Given the description of an element on the screen output the (x, y) to click on. 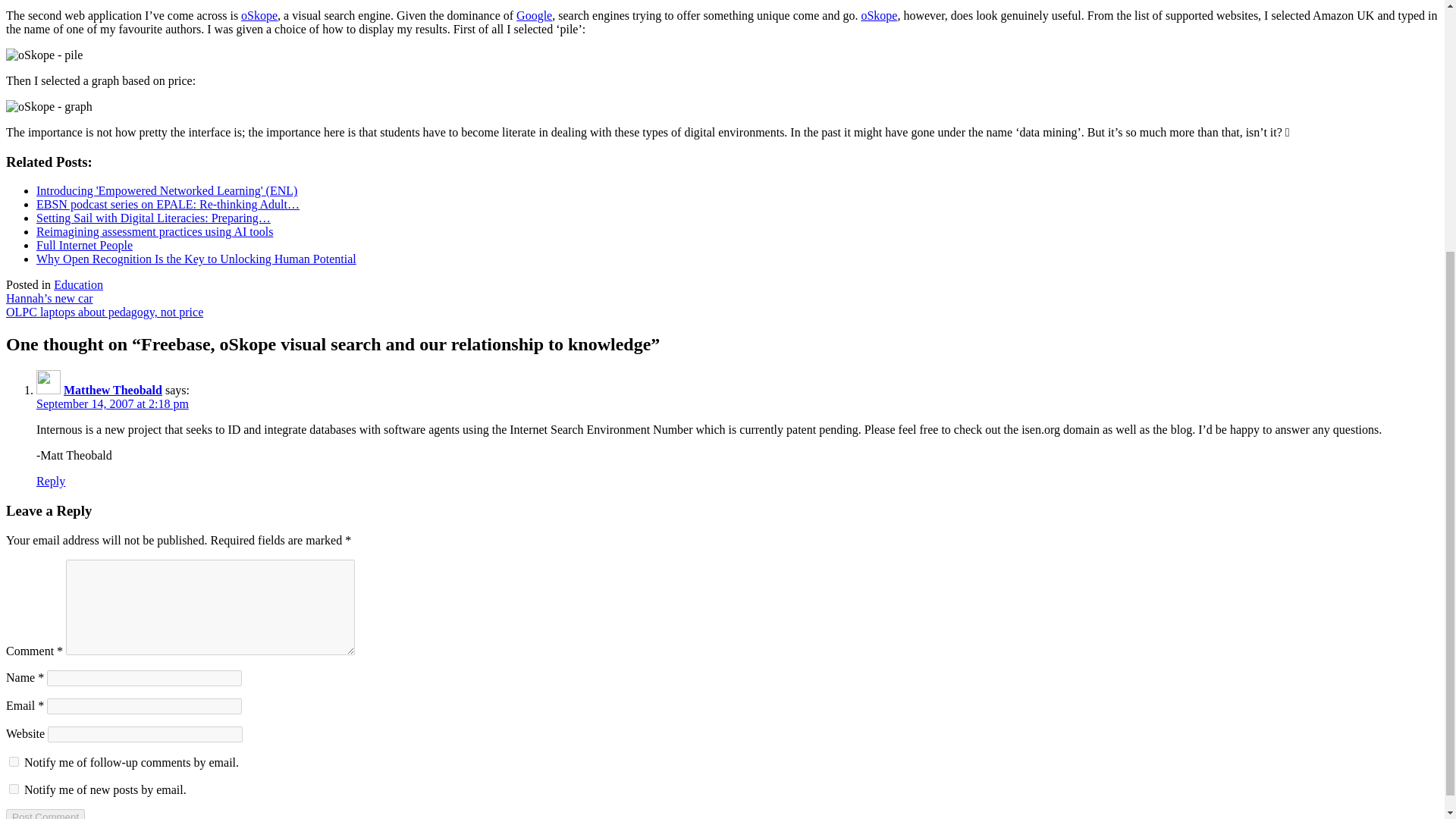
Reimagining assessment practices using AI tools (154, 231)
OLPC laptops about pedagogy, not price (104, 311)
oSkope (259, 15)
September 14, 2007 at 2:18 pm (112, 403)
subscribe (13, 787)
subscribe (13, 760)
Education (78, 284)
Matthew Theobald (112, 390)
oSkope (878, 15)
Why Open Recognition Is the Key to Unlocking Human Potential (196, 258)
